Given the description of an element on the screen output the (x, y) to click on. 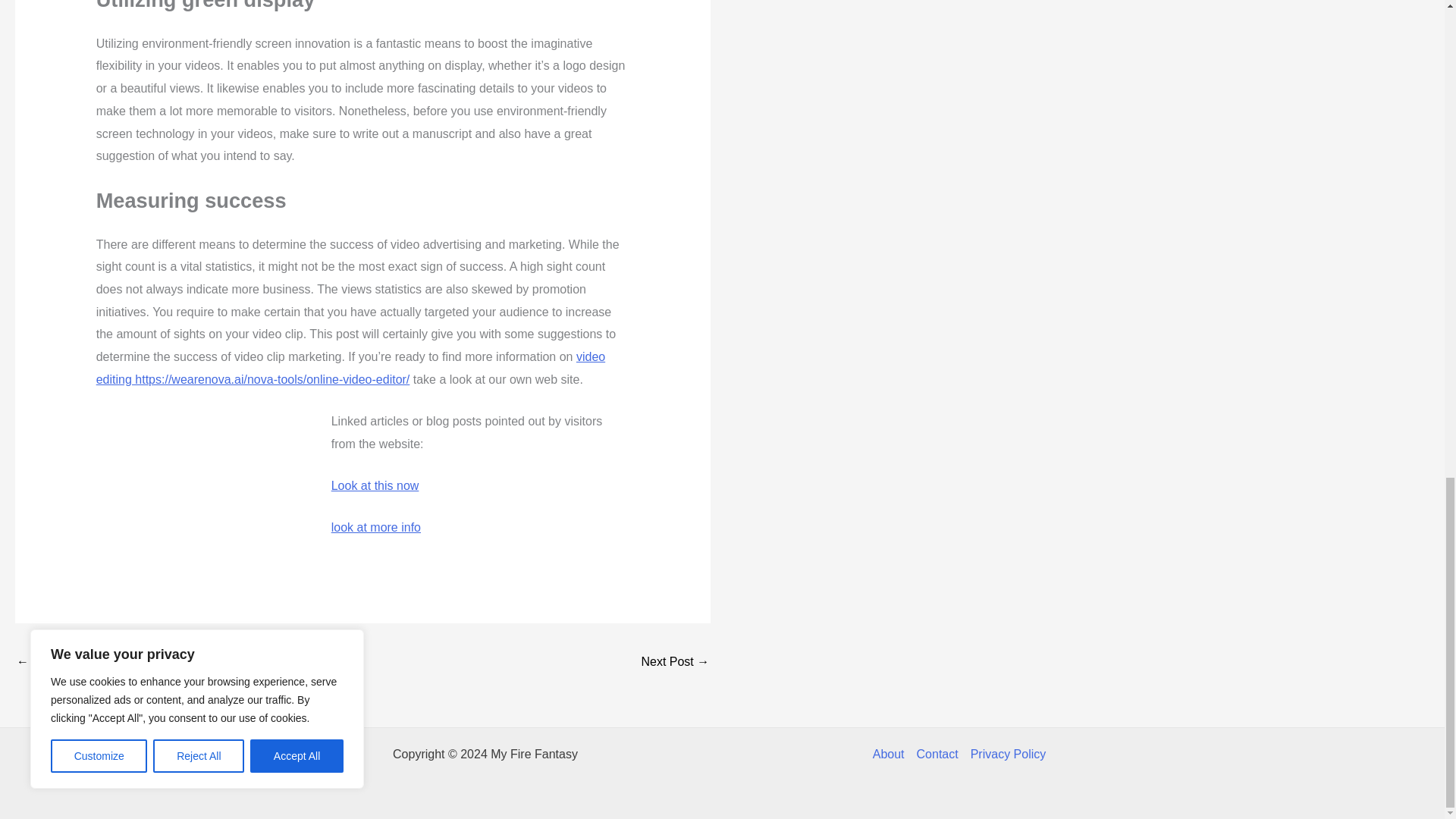
Sorts of E-Juice (674, 663)
Look at this now (375, 485)
look at more info (375, 526)
Earn Money Like A Virtual Assistant (61, 663)
